Given the description of an element on the screen output the (x, y) to click on. 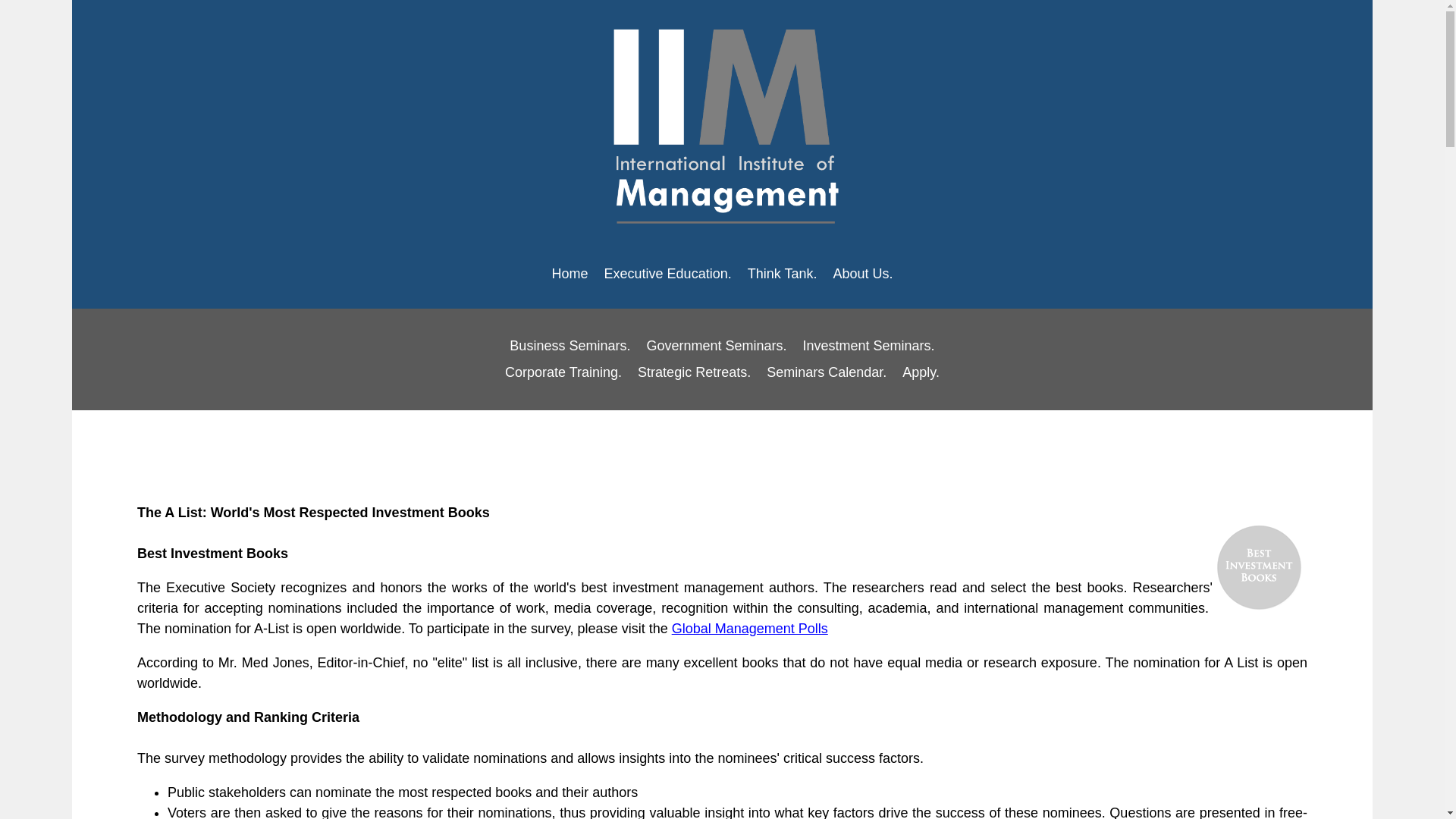
Think Tank. (782, 274)
Corporate Training. (563, 372)
Investment Seminars. (868, 345)
Executive Education. (668, 274)
Global Management Polls (749, 628)
Seminars Calendar. (826, 372)
Business Seminars. (569, 345)
Home (570, 274)
Strategic Retreats. (694, 372)
Government Seminars. (716, 345)
